Given the description of an element on the screen output the (x, y) to click on. 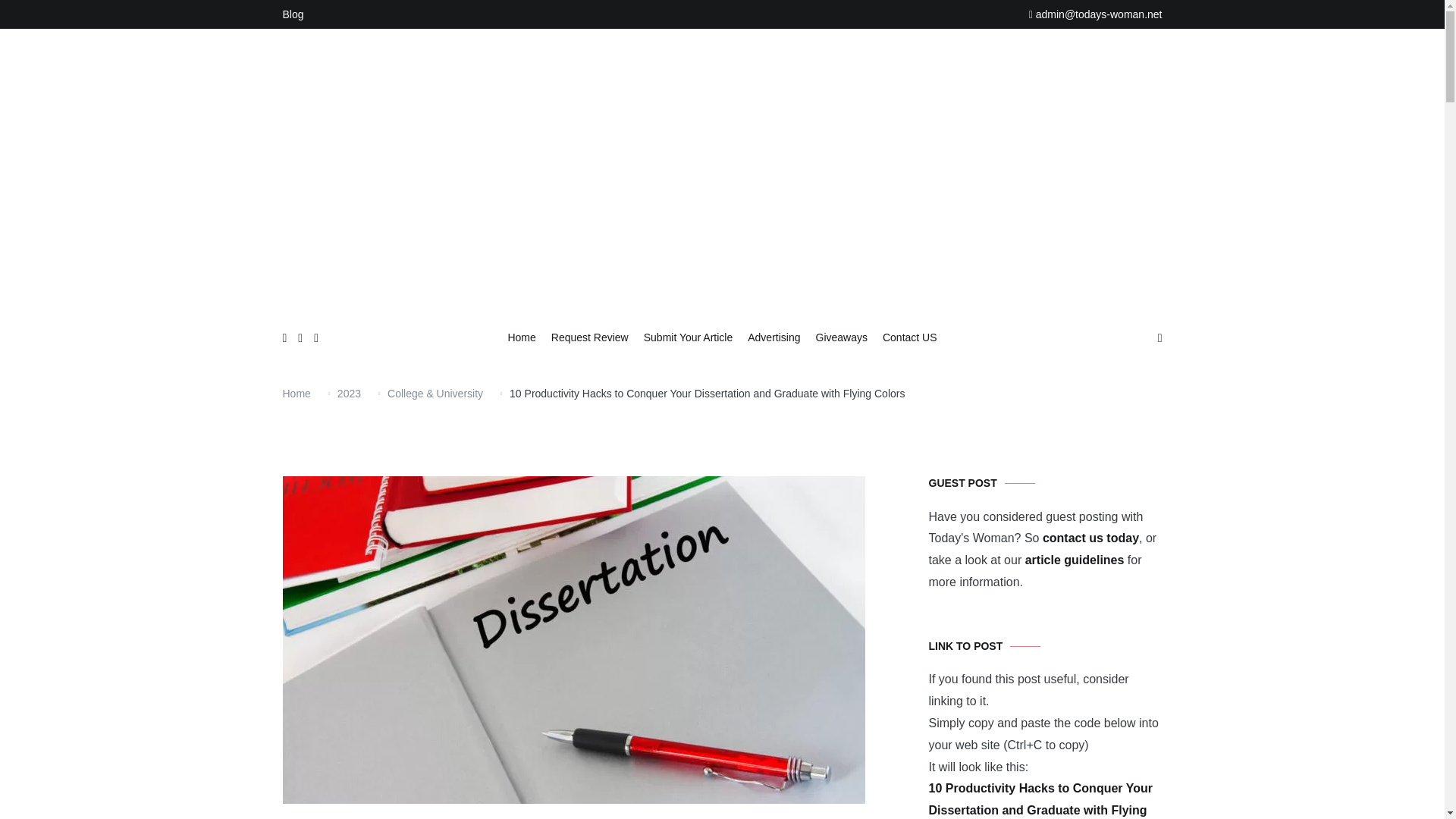
Advertising (773, 338)
Request Review (589, 338)
contact us today (1090, 537)
2023 (349, 393)
Home (296, 393)
Submit Your Article (688, 338)
Giveaways (841, 338)
Contact US (909, 338)
Today's Woman, Articles, Product Reviews and Giveaways (829, 318)
Blog (292, 14)
